Given the description of an element on the screen output the (x, y) to click on. 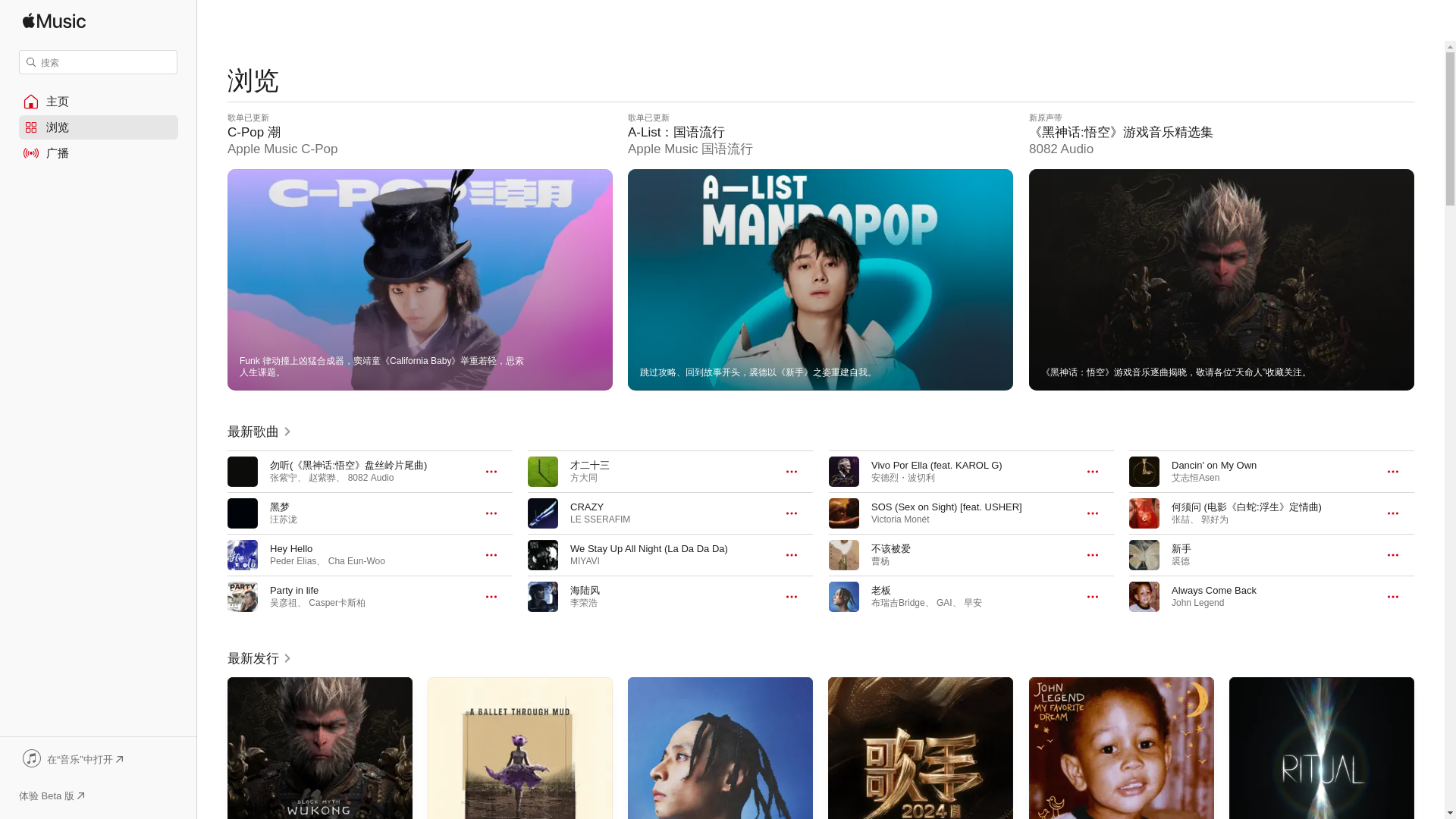
Peder Elias (292, 561)
Party in life (293, 590)
8082 Audio (370, 477)
Cha Eun-Woo (357, 561)
Hey Hello (291, 548)
